Given the description of an element on the screen output the (x, y) to click on. 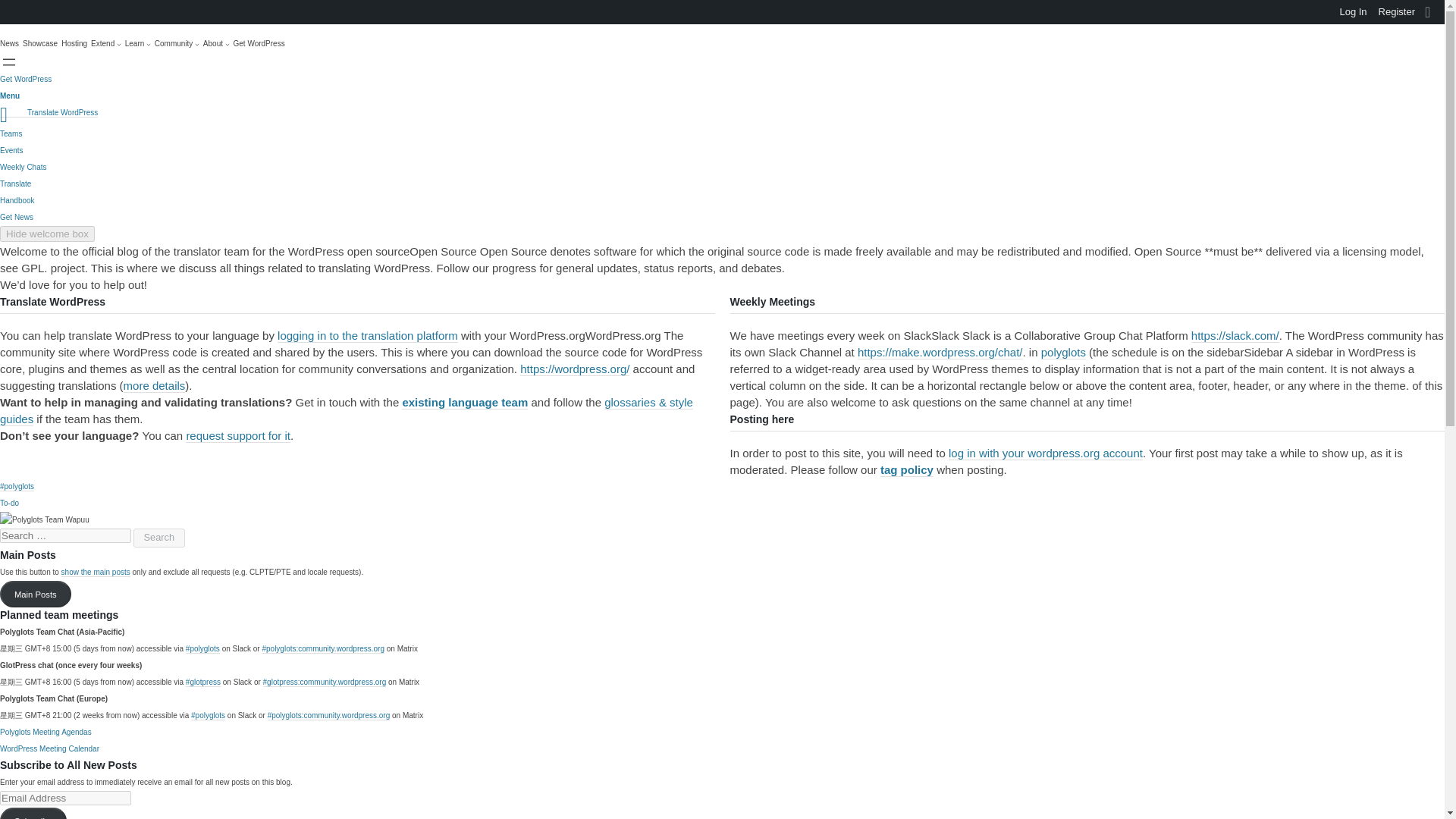
About (216, 44)
Search (16, 12)
Showcase (40, 44)
Community (176, 44)
WordPress.org (10, 10)
To-do (9, 502)
Learn (138, 44)
Register (1397, 12)
Menu (10, 95)
News (9, 44)
Get WordPress (258, 44)
Search (158, 537)
Extend (105, 44)
Log In (1353, 12)
WordPress.org (10, 13)
